Given the description of an element on the screen output the (x, y) to click on. 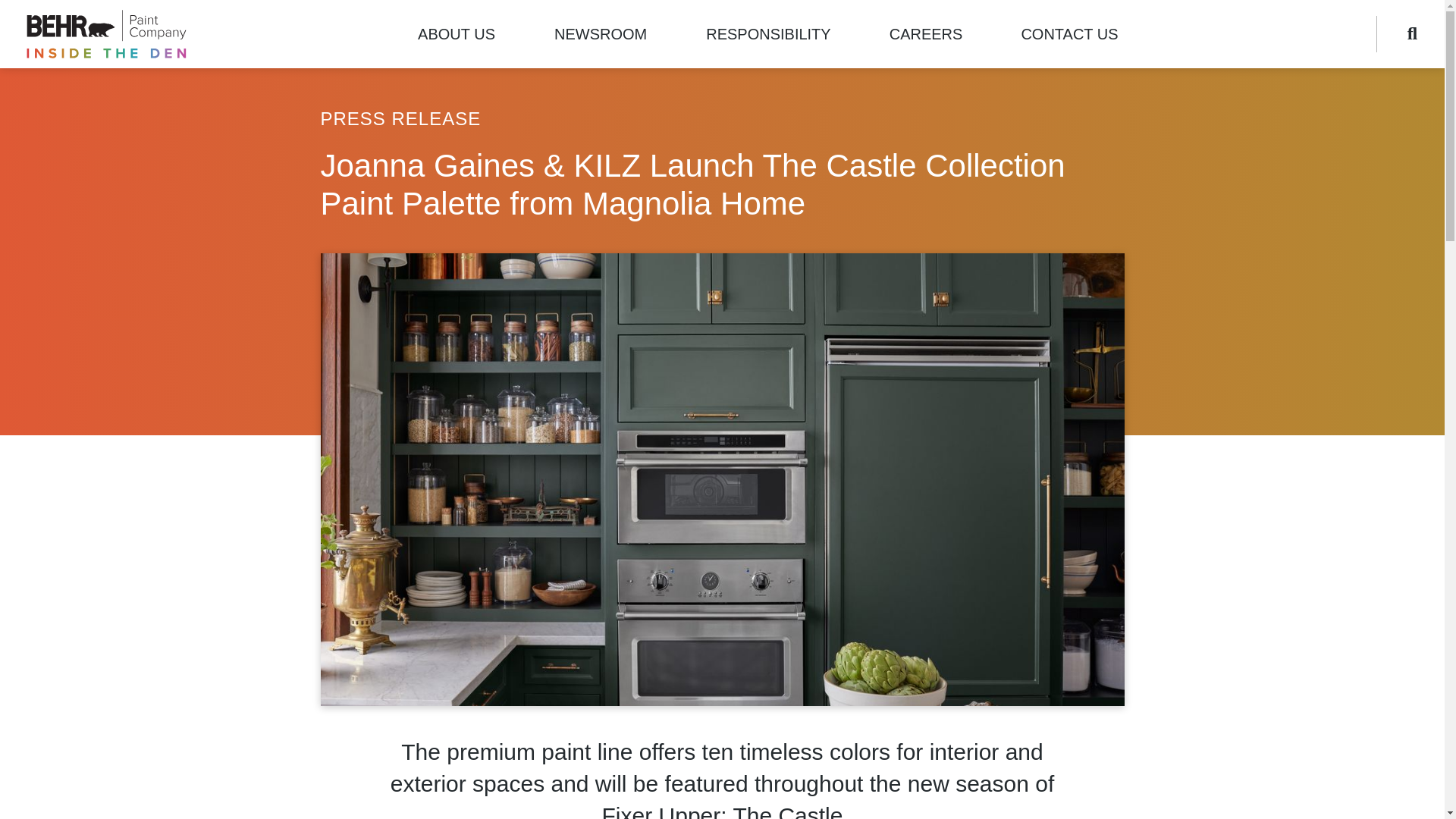
NEWSROOM (600, 33)
Skip to main content (14, 7)
CONTACT US (1068, 33)
CAREERS (926, 33)
RESPONSIBILITY (768, 33)
ABOUT US (456, 33)
PRESS RELEASE (400, 118)
Toggle Search (1403, 33)
